Given the description of an element on the screen output the (x, y) to click on. 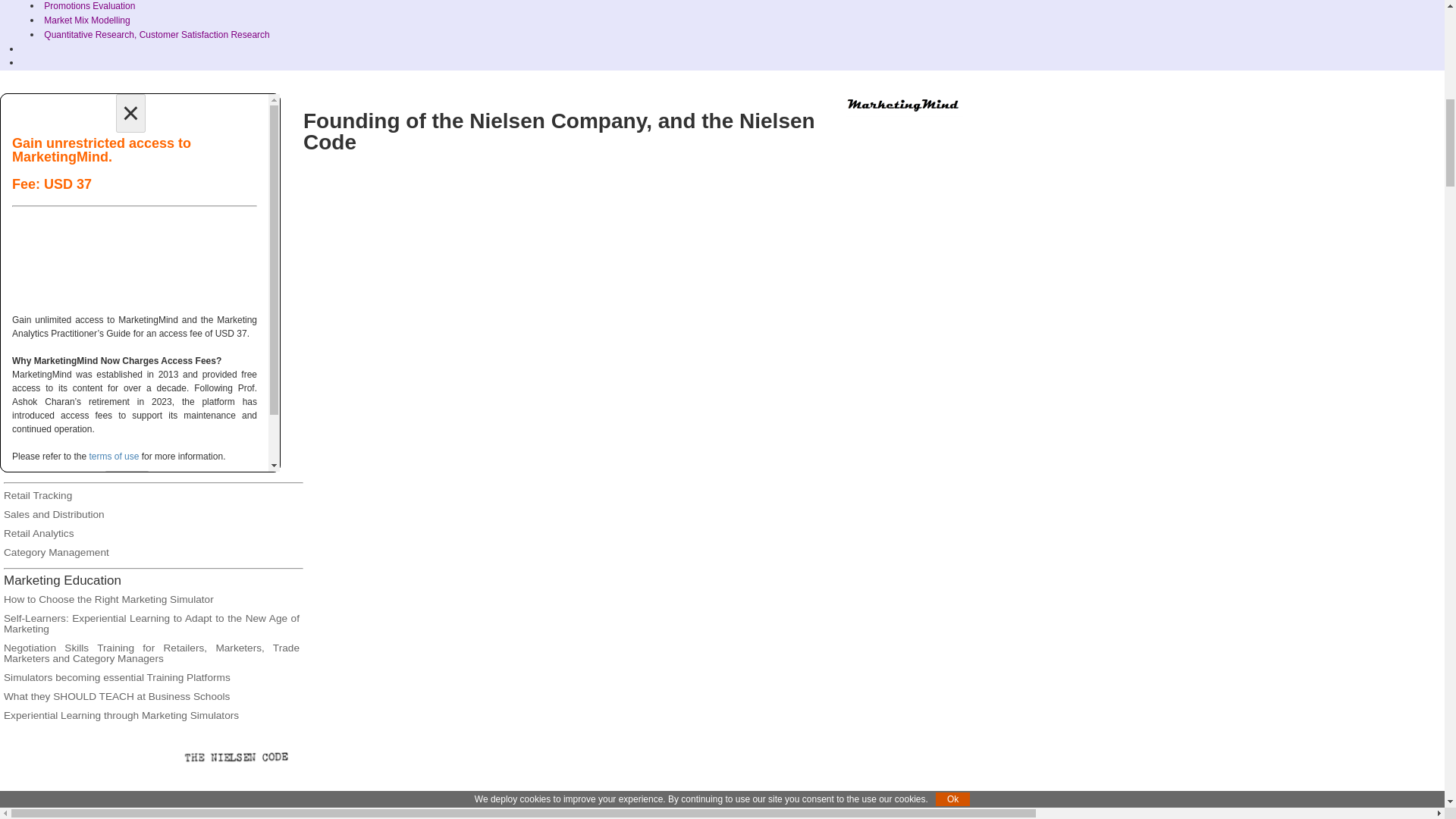
Enter email. (134, 187)
PayPal (134, 262)
MM - Marketing Mind: Online guide to Marketing Management (903, 106)
